Given the description of an element on the screen output the (x, y) to click on. 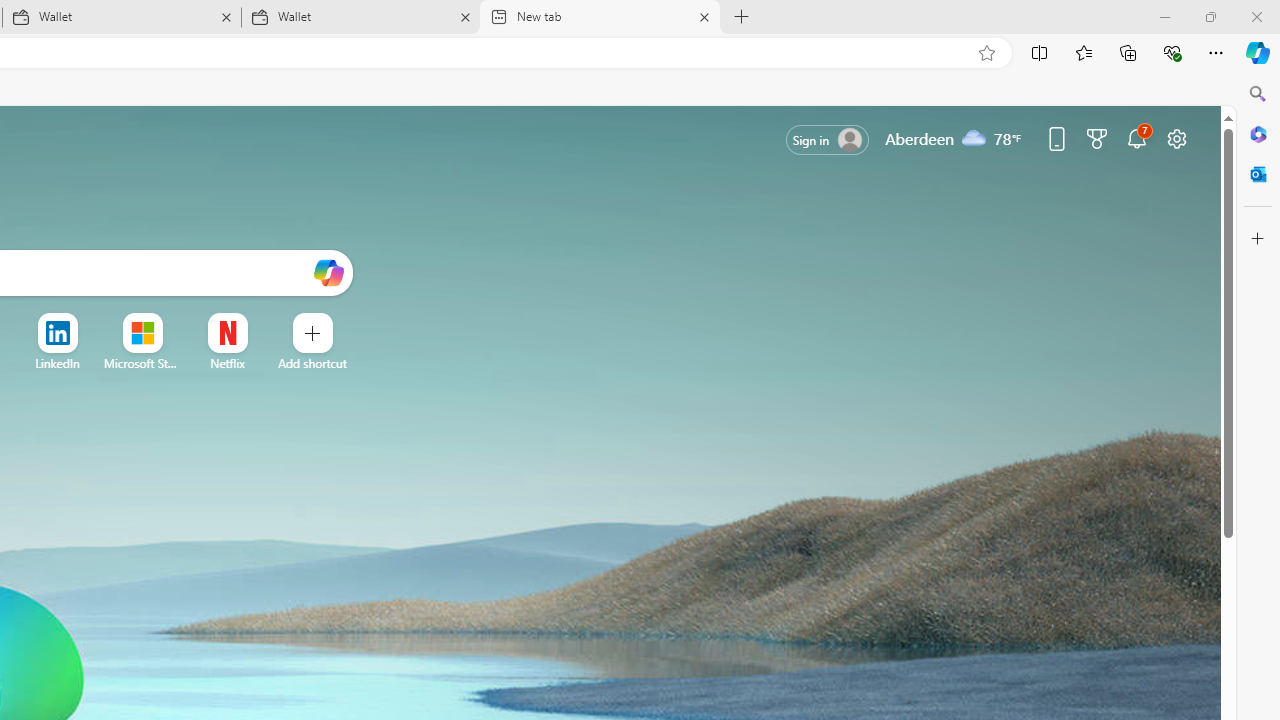
Microsoft rewards (1096, 138)
Wallet (360, 17)
New tab (600, 17)
Search (1258, 94)
Customize (1258, 239)
Microsoft Start (141, 363)
Page settings (1176, 138)
Close Outlook pane (1258, 174)
Notifications (1137, 138)
